Given the description of an element on the screen output the (x, y) to click on. 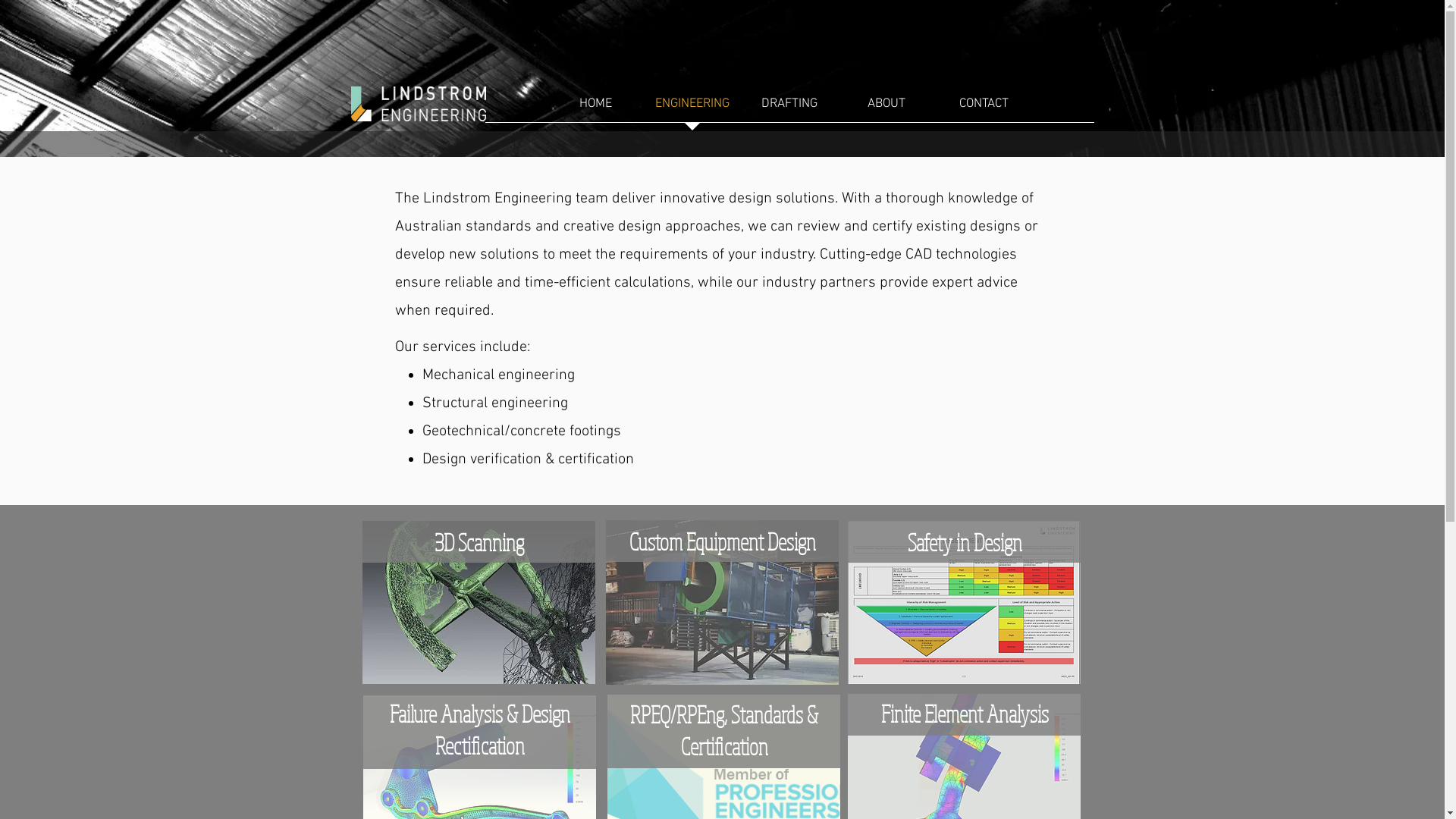
DRAFTING Element type: text (788, 108)
CONTACT Element type: text (983, 108)
HOME Element type: text (594, 108)
ENGINEERING Element type: text (691, 108)
ABOUT Element type: text (886, 108)
